Given the description of an element on the screen output the (x, y) to click on. 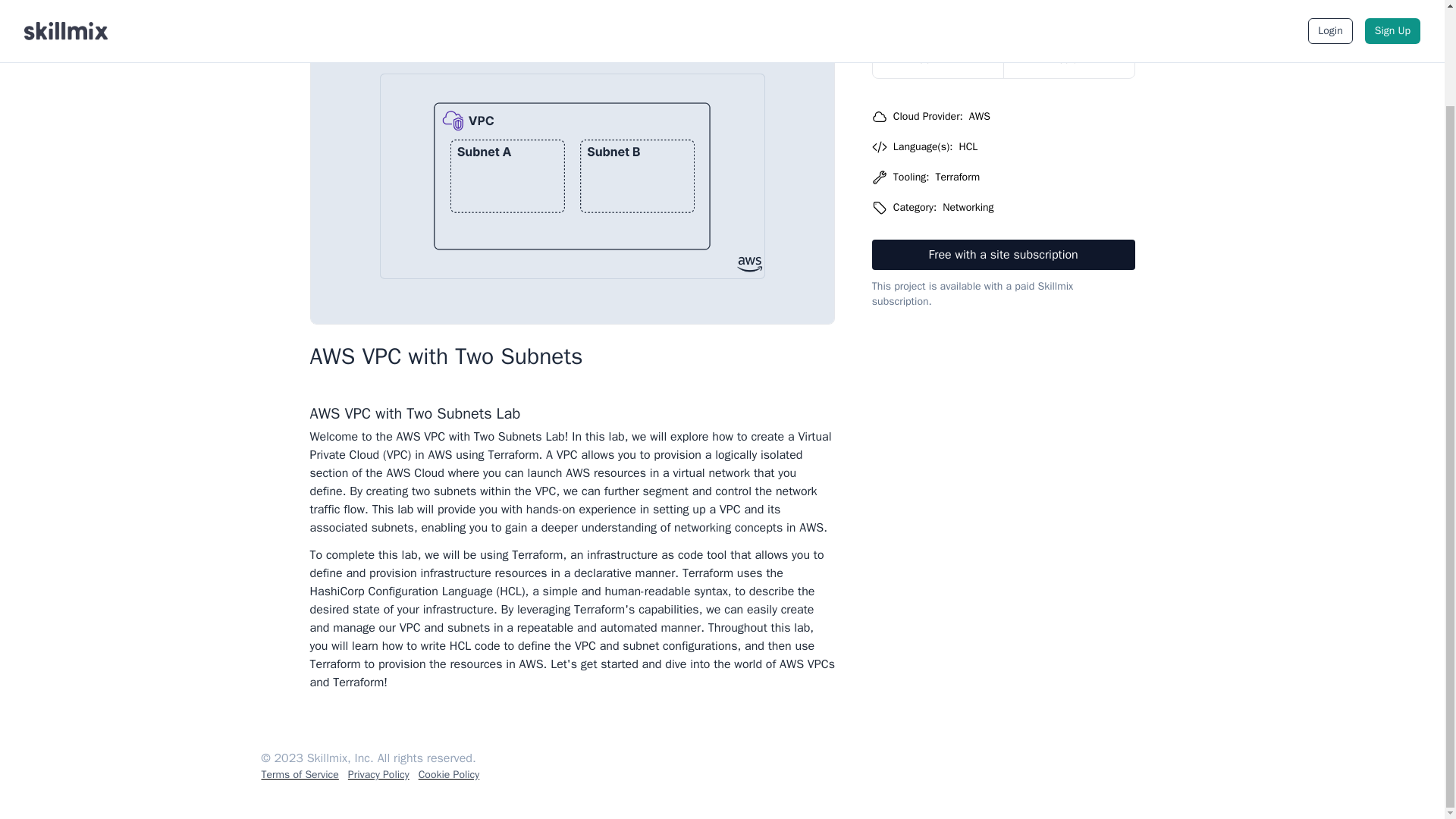
Free with a site subscription (1003, 254)
Cookie Policy (449, 774)
Projects (382, 0)
Privacy Policy (378, 774)
AWS VPC with Two Subnets (504, 0)
Terms of Service (298, 774)
